Given the description of an element on the screen output the (x, y) to click on. 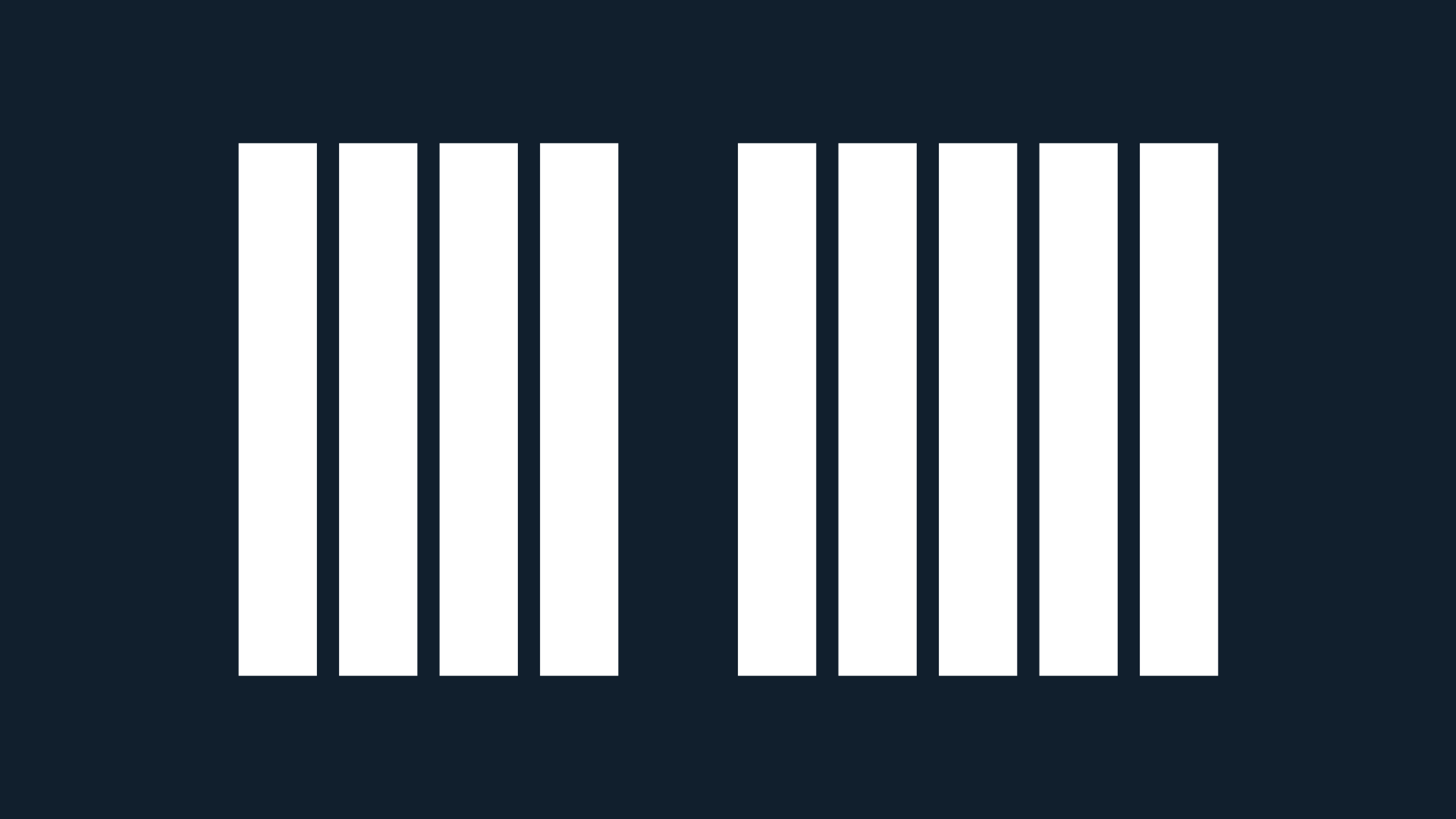
Get a quote (1282, 41)
Simply Contact (96, 690)
Business Tips (204, 690)
